Given the description of an element on the screen output the (x, y) to click on. 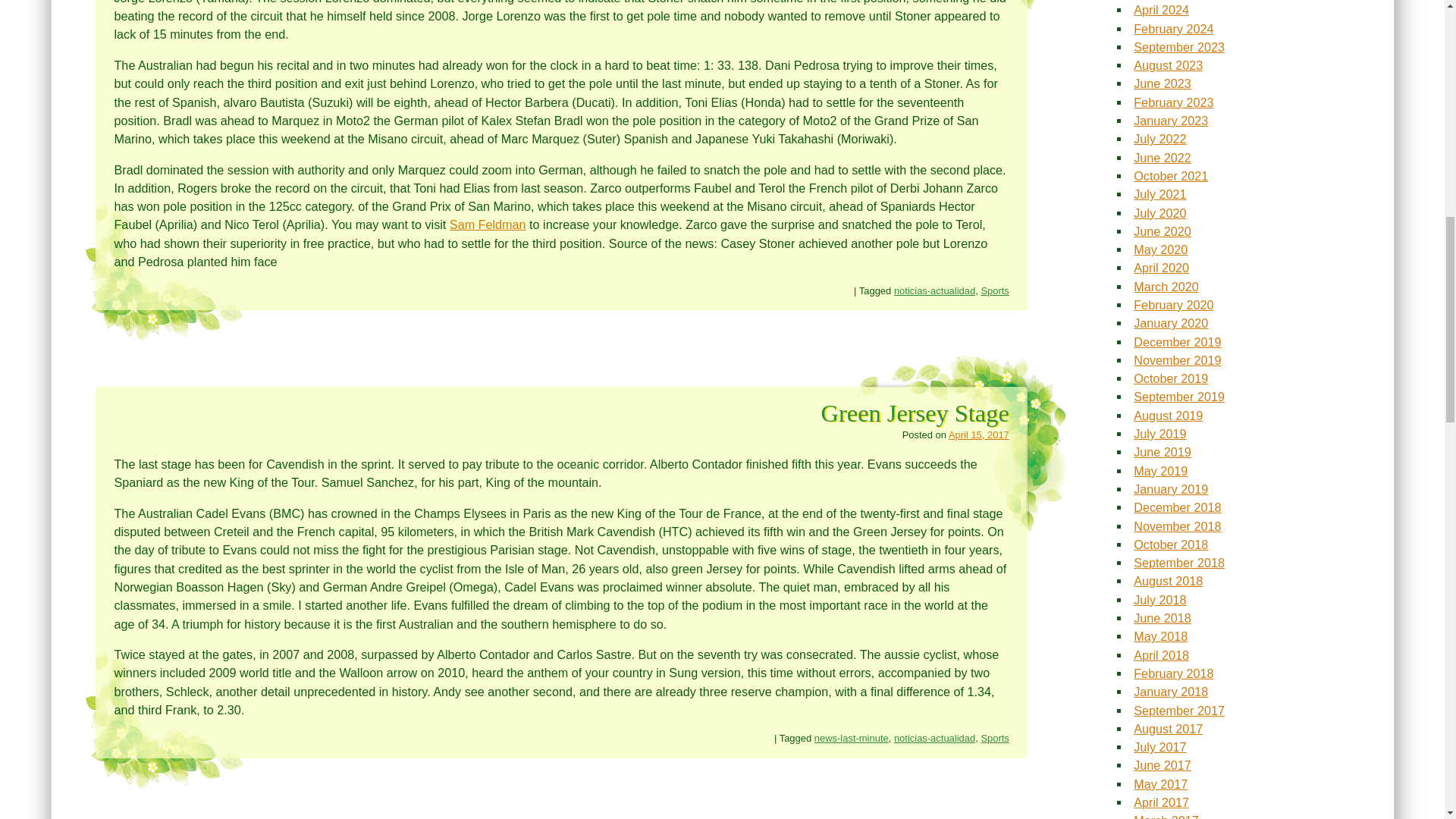
noticias-actualidad (934, 737)
June 2023 (1162, 83)
July 2021 (1160, 193)
April 2024 (1161, 9)
July 2022 (1160, 138)
Permalink to Green Jersey Stage (915, 412)
October 2021 (1171, 175)
February 2023 (1173, 101)
September 2023 (1179, 47)
June 2020 (1162, 231)
news-last-minute (850, 737)
noticias-actualidad (934, 290)
Sports (994, 290)
April 15, 2017 (979, 434)
April 2020 (1161, 267)
